Given the description of an element on the screen output the (x, y) to click on. 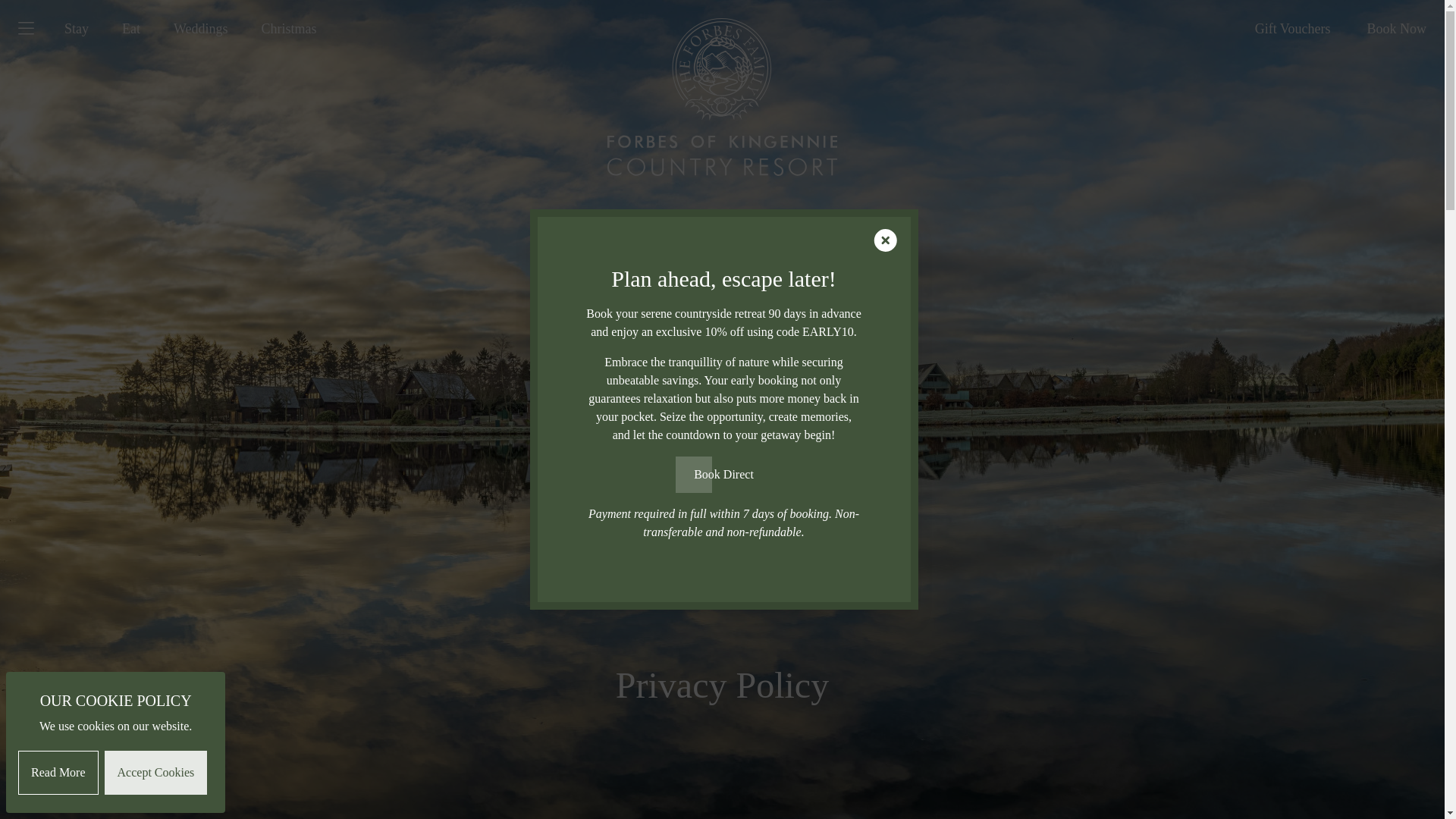
Home Page (721, 88)
Christmas (288, 28)
Gift Vouchers (1292, 28)
Menu (34, 28)
Weddings (200, 28)
